Given the description of an element on the screen output the (x, y) to click on. 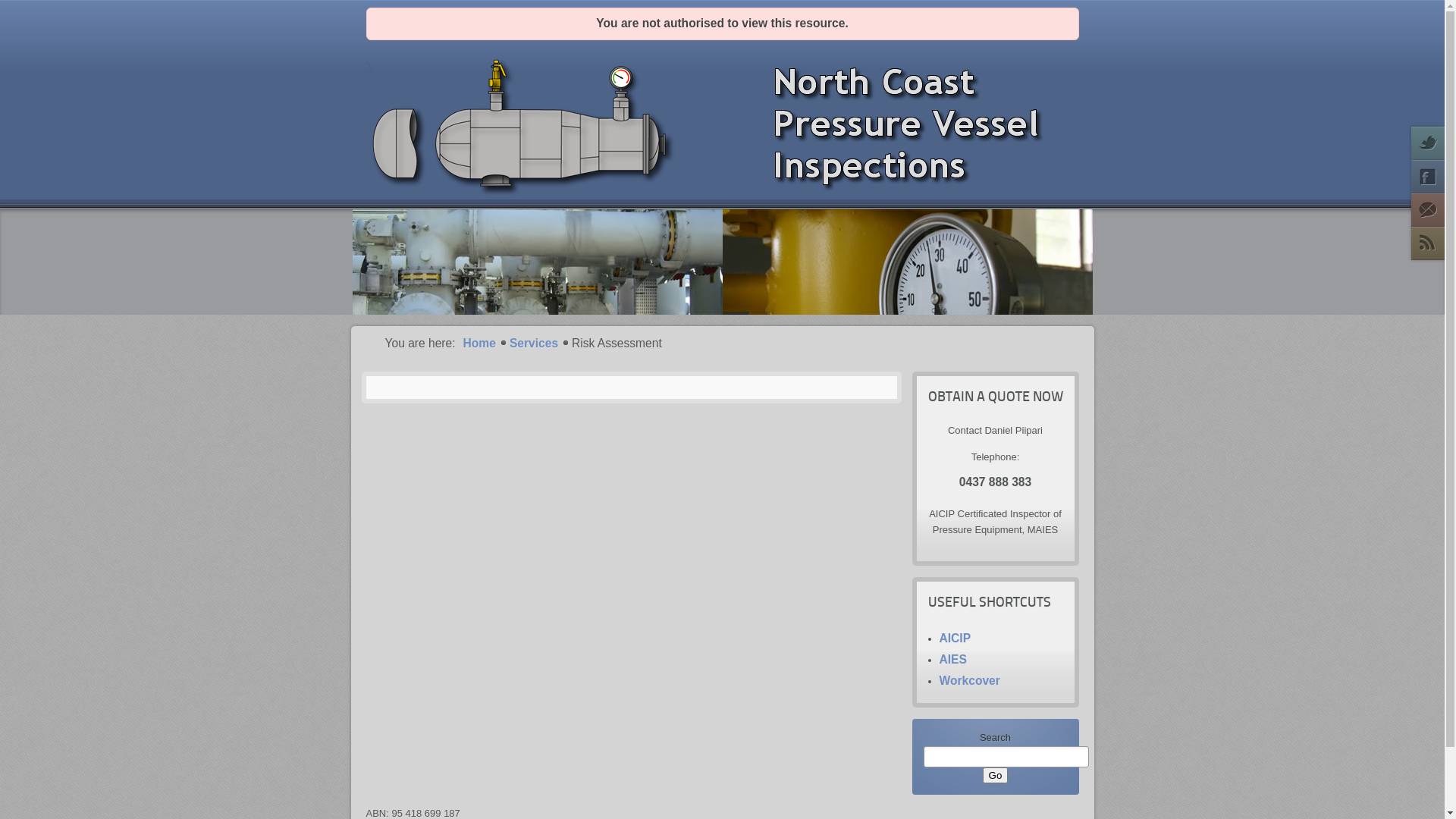
Services Element type: text (533, 343)
Go Element type: text (995, 775)
Home Element type: text (479, 343)
AICIP Element type: text (954, 637)
AIES Element type: text (952, 658)
Workcover Element type: text (968, 680)
North Coast Pressure Vessel Inspections Element type: hover (721, 261)
